Given the description of an element on the screen output the (x, y) to click on. 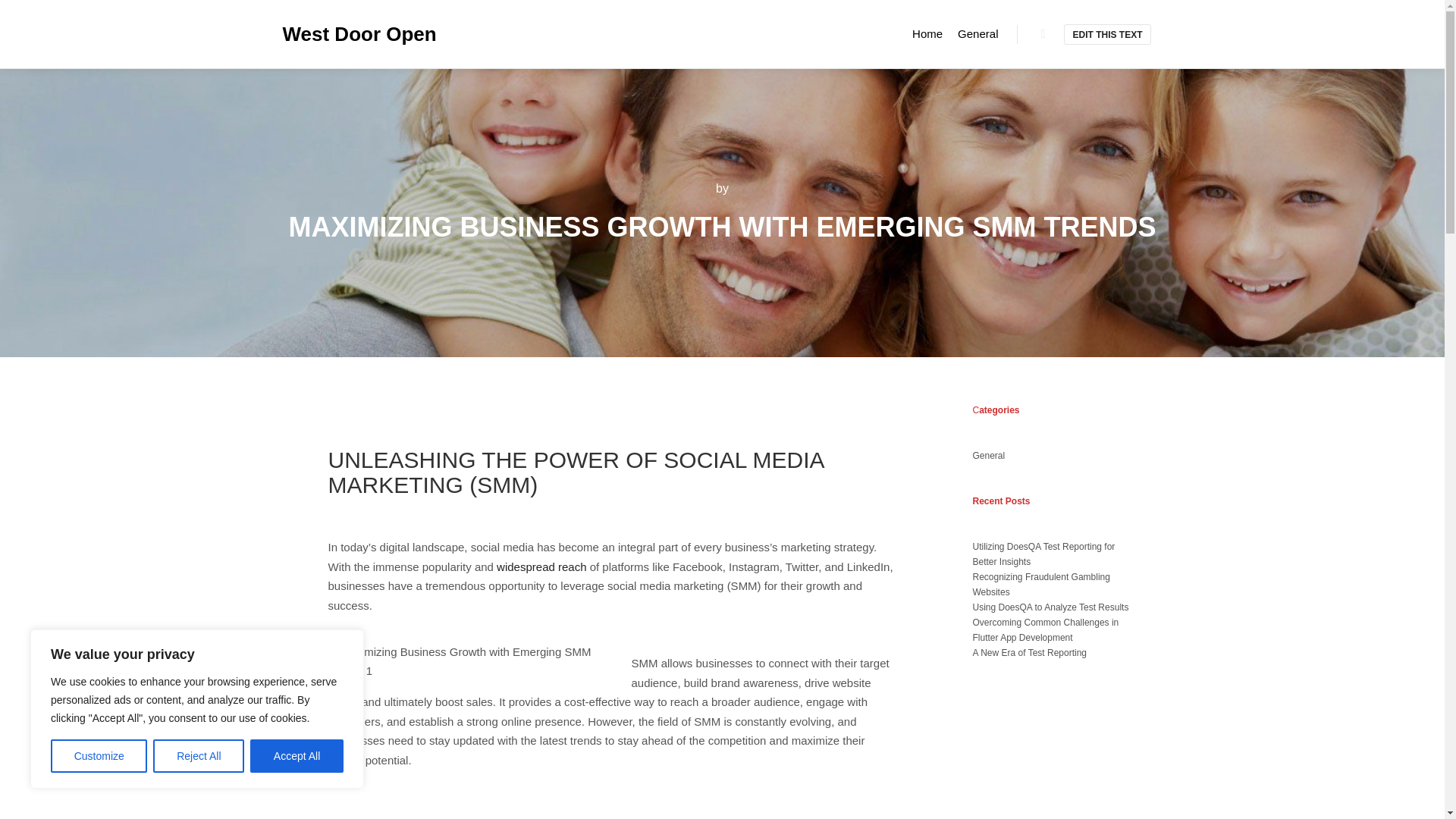
Accept All (296, 756)
Customize (98, 756)
A New Era of Test Reporting (1029, 652)
Overcoming Common Challenges in Flutter App Development (1045, 629)
Recognizing Fraudulent Gambling Websites (1040, 584)
Utilizing DoesQA Test Reporting for Better Insights (1043, 554)
Search (1043, 34)
General (988, 455)
West Door Open (357, 33)
Reject All (198, 756)
